Given the description of an element on the screen output the (x, y) to click on. 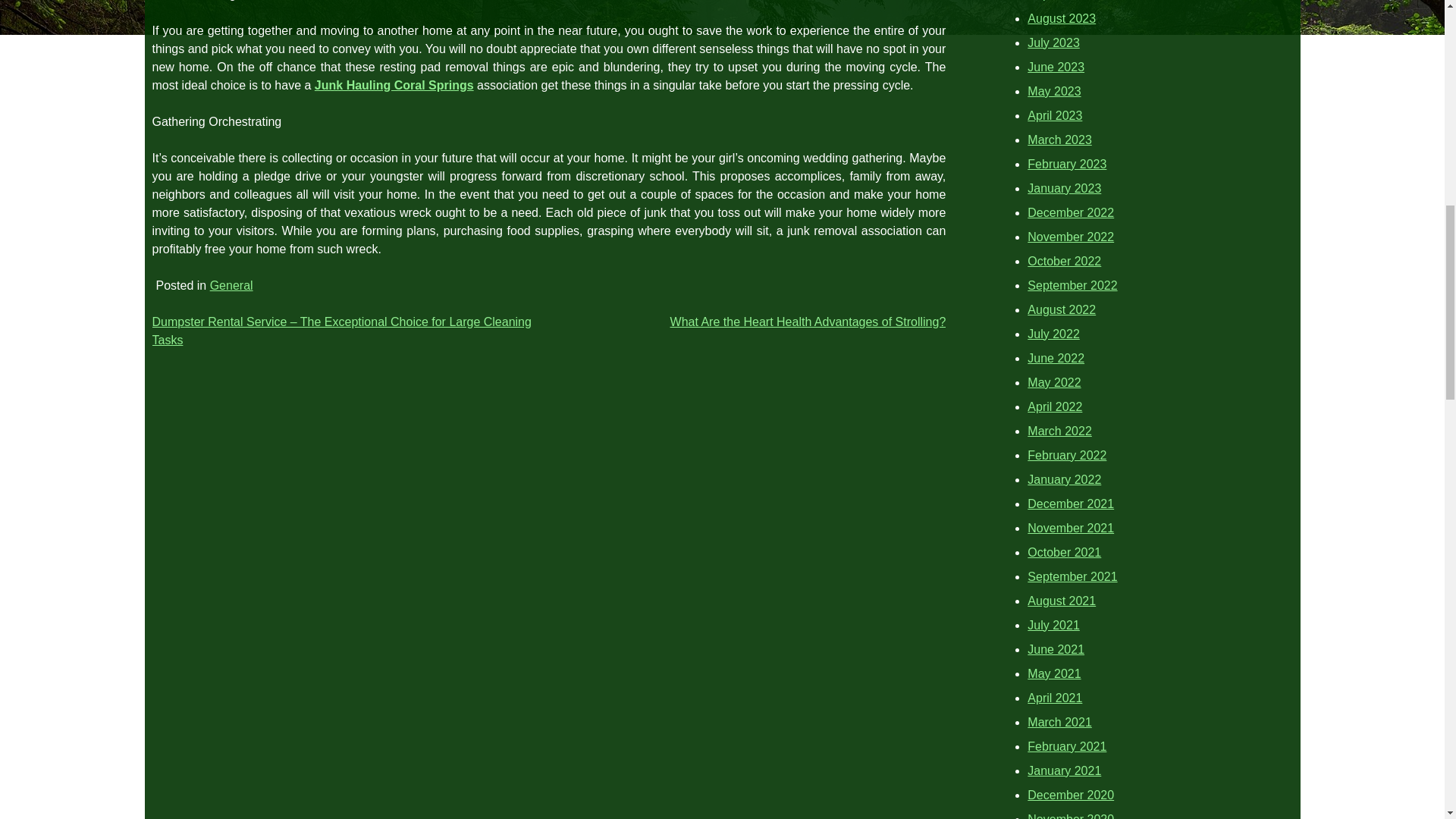
General (231, 285)
January 2023 (1063, 187)
June 2023 (1055, 66)
December 2022 (1070, 212)
July 2023 (1053, 42)
April 2023 (1054, 115)
February 2023 (1066, 164)
March 2023 (1059, 139)
What Are the Heart Health Advantages of Strolling? (807, 321)
